Given the description of an element on the screen output the (x, y) to click on. 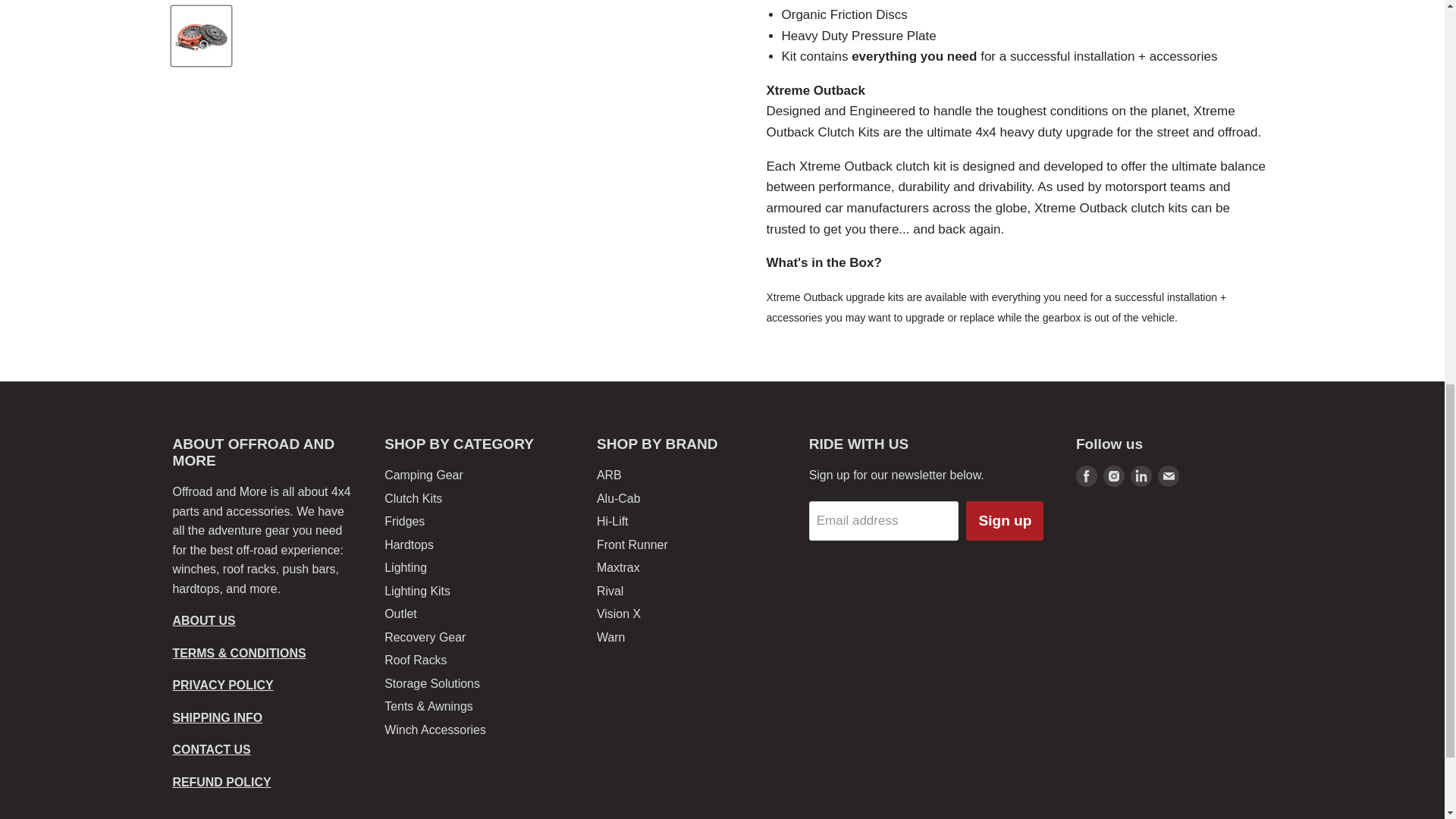
Shipping Policy (218, 717)
Refund Policy (221, 781)
Terms of Service (239, 653)
Privacy Policy (223, 684)
Contact (211, 748)
About Us (204, 620)
